Given the description of an element on the screen output the (x, y) to click on. 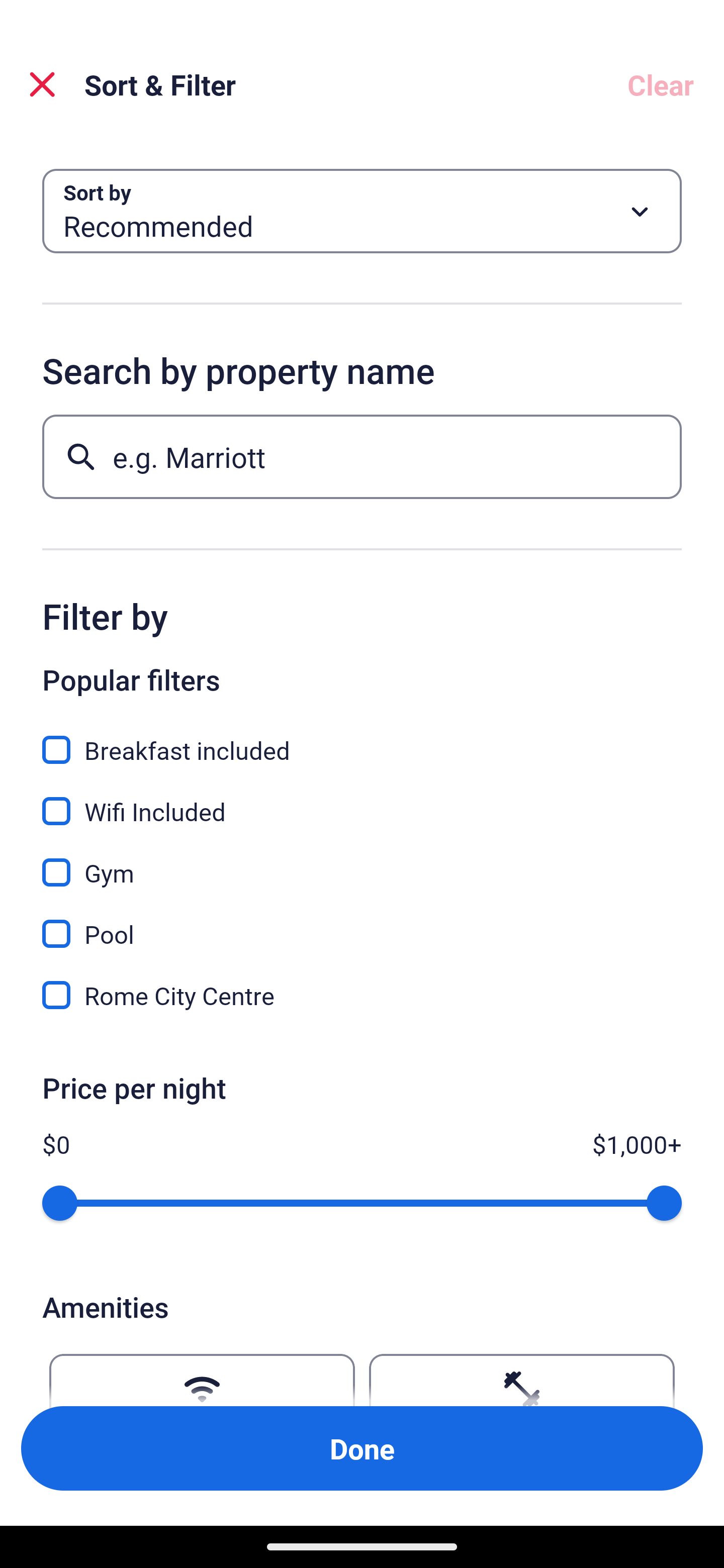
Close Sort and Filter (42, 84)
Clear (660, 84)
Sort by Button Recommended (361, 211)
e.g. Marriott Button (361, 455)
Breakfast included, Breakfast included (361, 738)
Wifi Included, Wifi Included (361, 800)
Gym, Gym (361, 861)
Pool, Pool (361, 922)
Rome City Centre, Rome City Centre (361, 995)
Apply and close Sort and Filter Done (361, 1448)
